Given the description of an element on the screen output the (x, y) to click on. 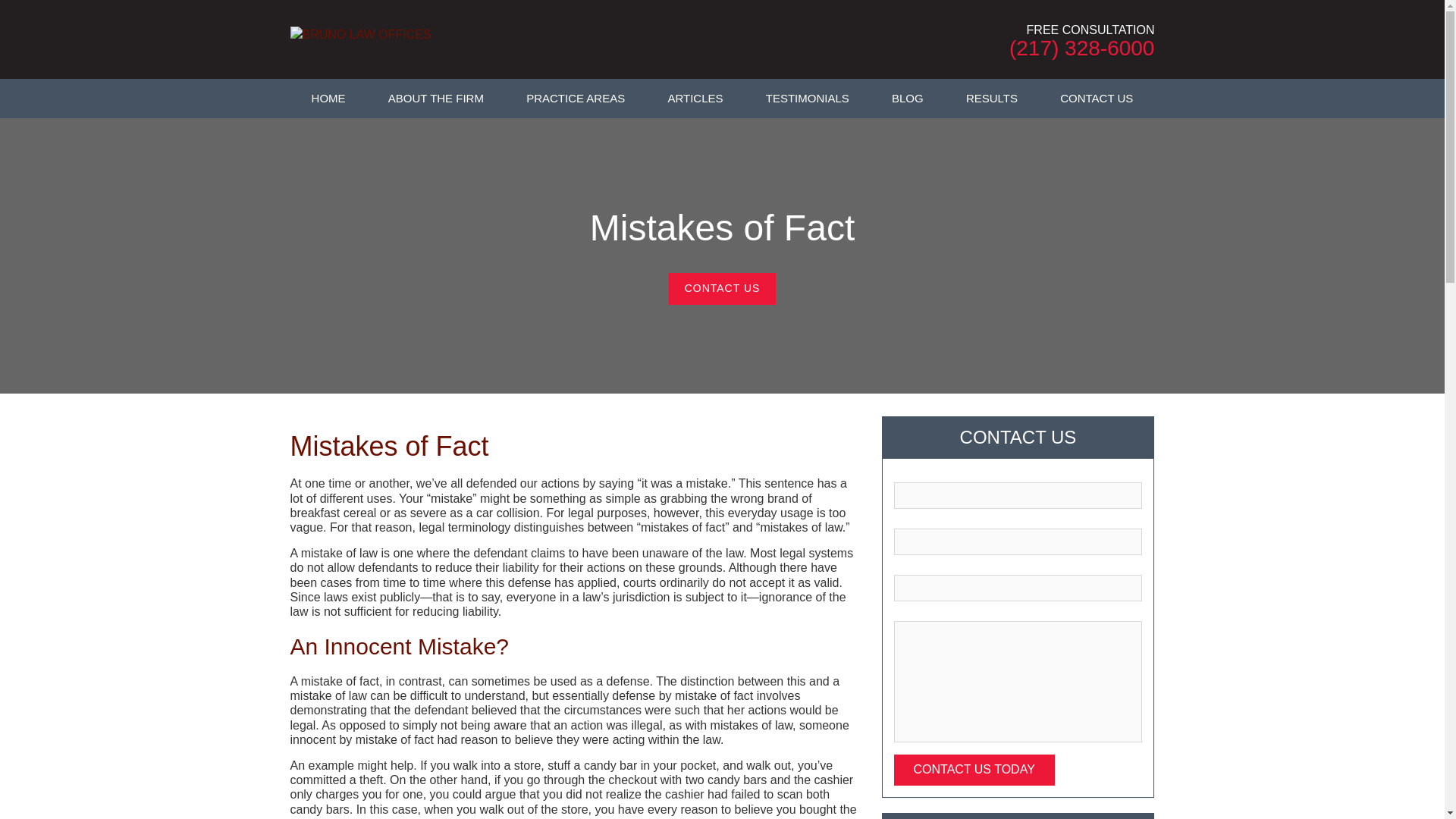
CONTACT US (1096, 97)
Contact Us Today (973, 769)
RESULTS (991, 97)
Contact Us Today (973, 769)
ARTICLES (695, 97)
ABOUT THE FIRM (435, 97)
TESTIMONIALS (807, 97)
PRACTICE AREAS (575, 97)
CONTACT US (722, 288)
HOME (327, 97)
